Given the description of an element on the screen output the (x, y) to click on. 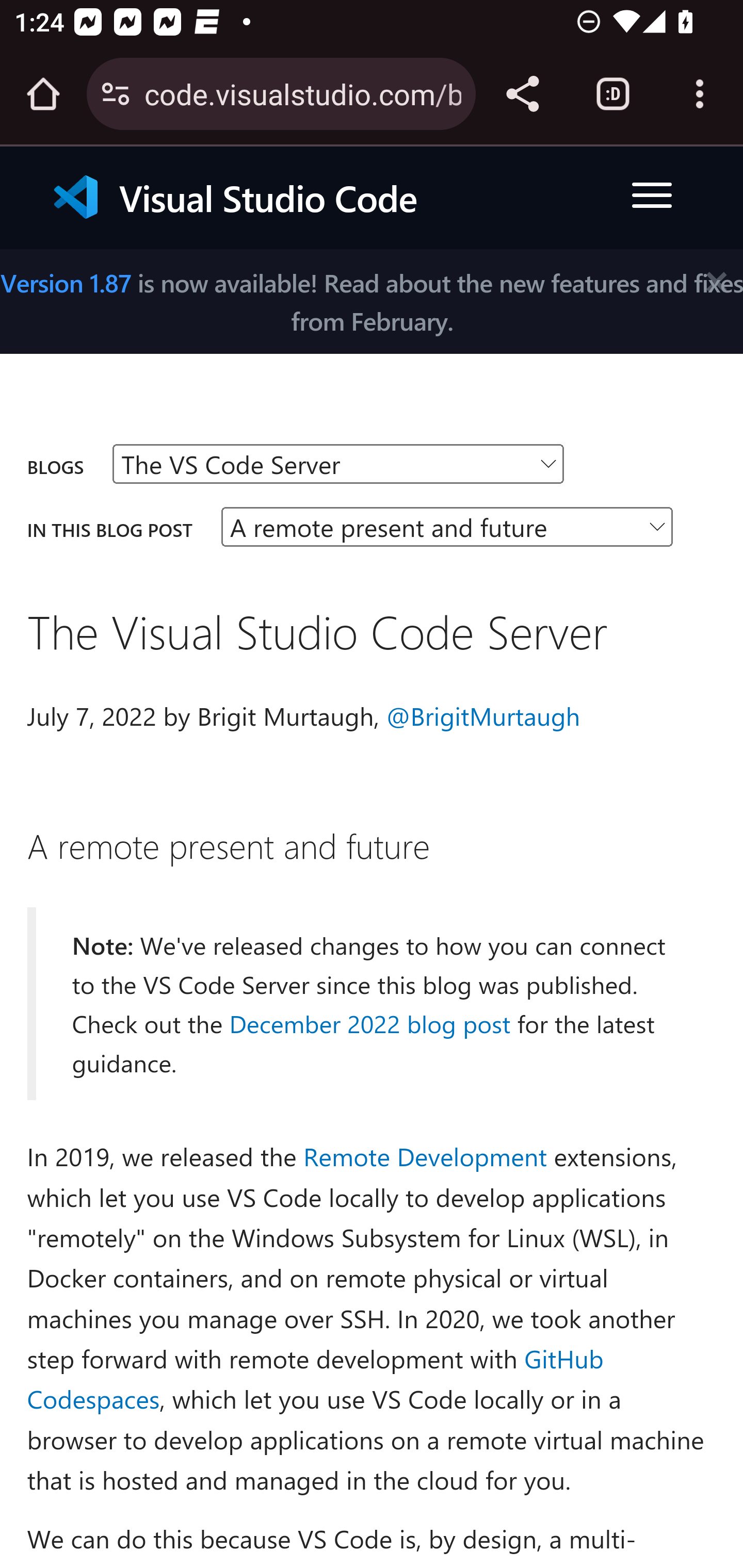
Open the home page (43, 93)
Connection is secure (115, 93)
Share (522, 93)
Switch or close tabs (612, 93)
Customize and control Google Chrome (699, 93)
Visual Studio Code (249, 197)
Toggle Navigation Menu (652, 195)
Version 1.87 (65, 281)
blog posts (338, 464)
Sections (446, 525)
@BrigitMurtaugh (482, 714)
A remote present and future (228, 844)
December 2022 blog post (369, 1022)
Remote Development (426, 1155)
GitHub Codespaces (314, 1378)
